Given the description of an element on the screen output the (x, y) to click on. 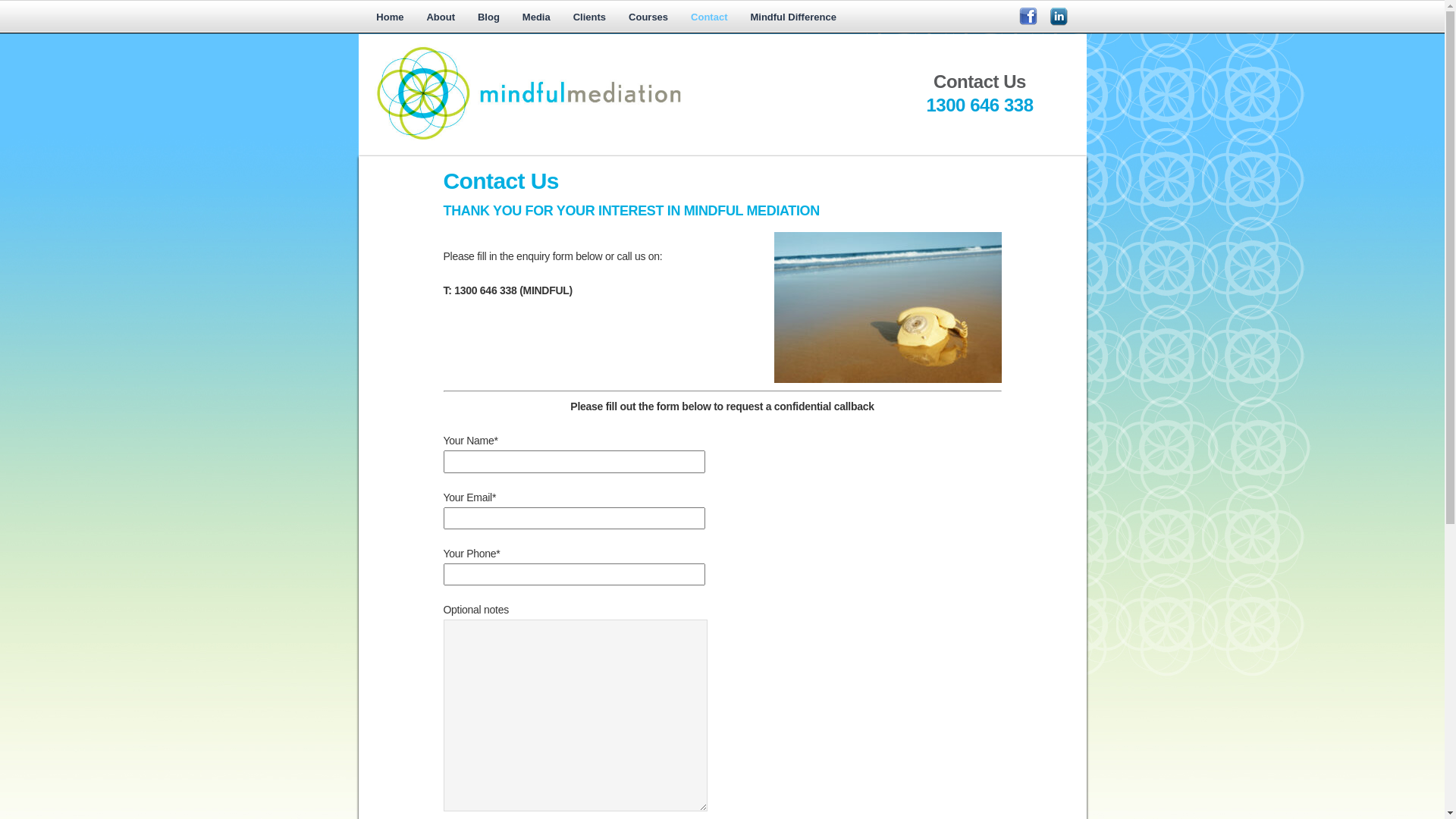
Blog Element type: text (488, 17)
About Element type: text (440, 17)
Mindful Mediation Element type: hover (614, 95)
Courses Element type: text (648, 17)
Clients Element type: text (589, 17)
Contact_Mindful_Mediation Element type: hover (887, 307)
Home Element type: text (389, 17)
Media Element type: text (536, 17)
Contact Element type: text (708, 17)
Mindful Difference Element type: text (792, 17)
Mindful Mediation Element type: text (614, 139)
